Given the description of an element on the screen output the (x, y) to click on. 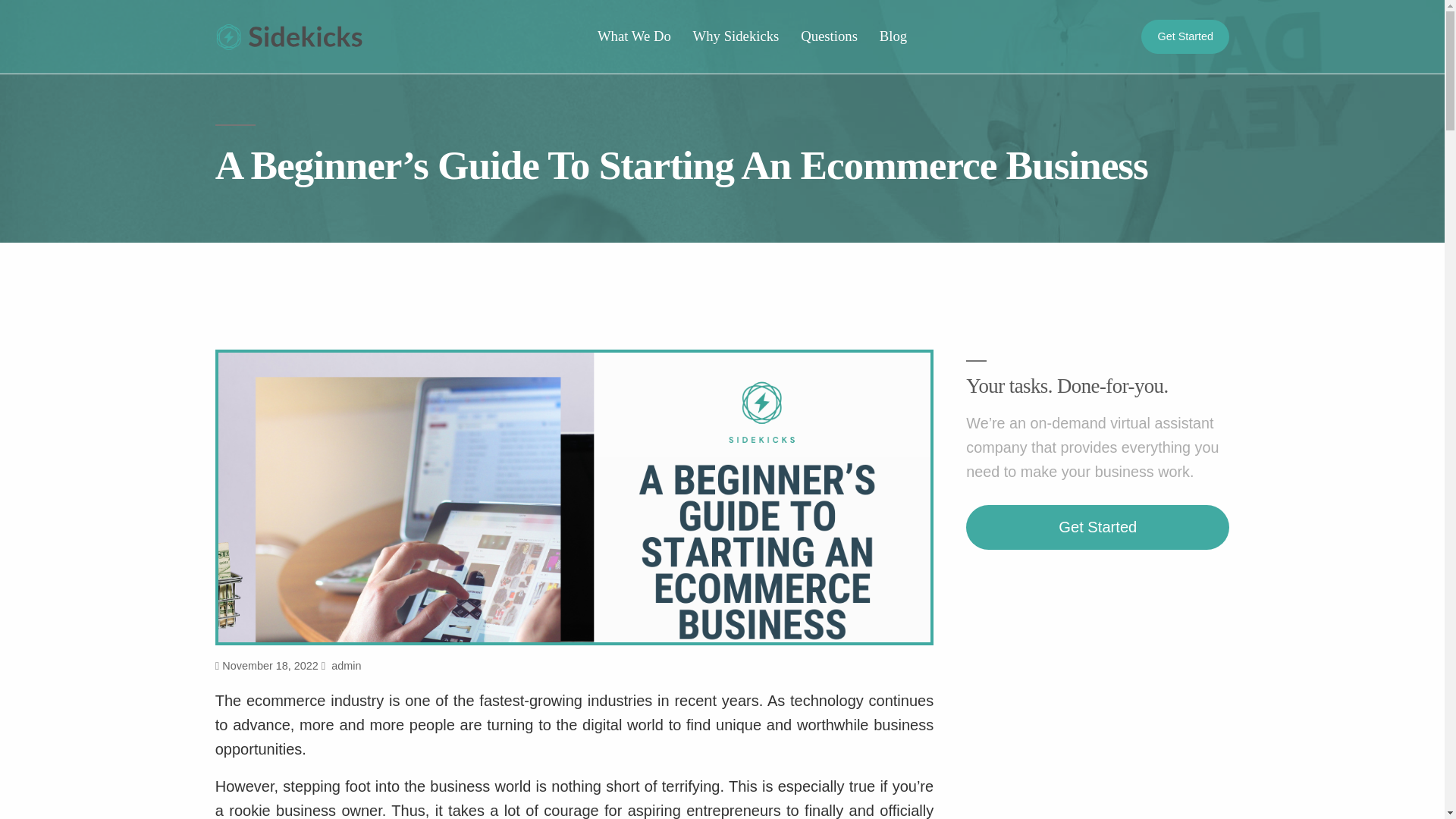
Why Sidekicks (735, 36)
What We Do (634, 36)
Get Started (1097, 527)
Questions (829, 36)
Blog (892, 36)
Get Started (1184, 36)
